Given the description of an element on the screen output the (x, y) to click on. 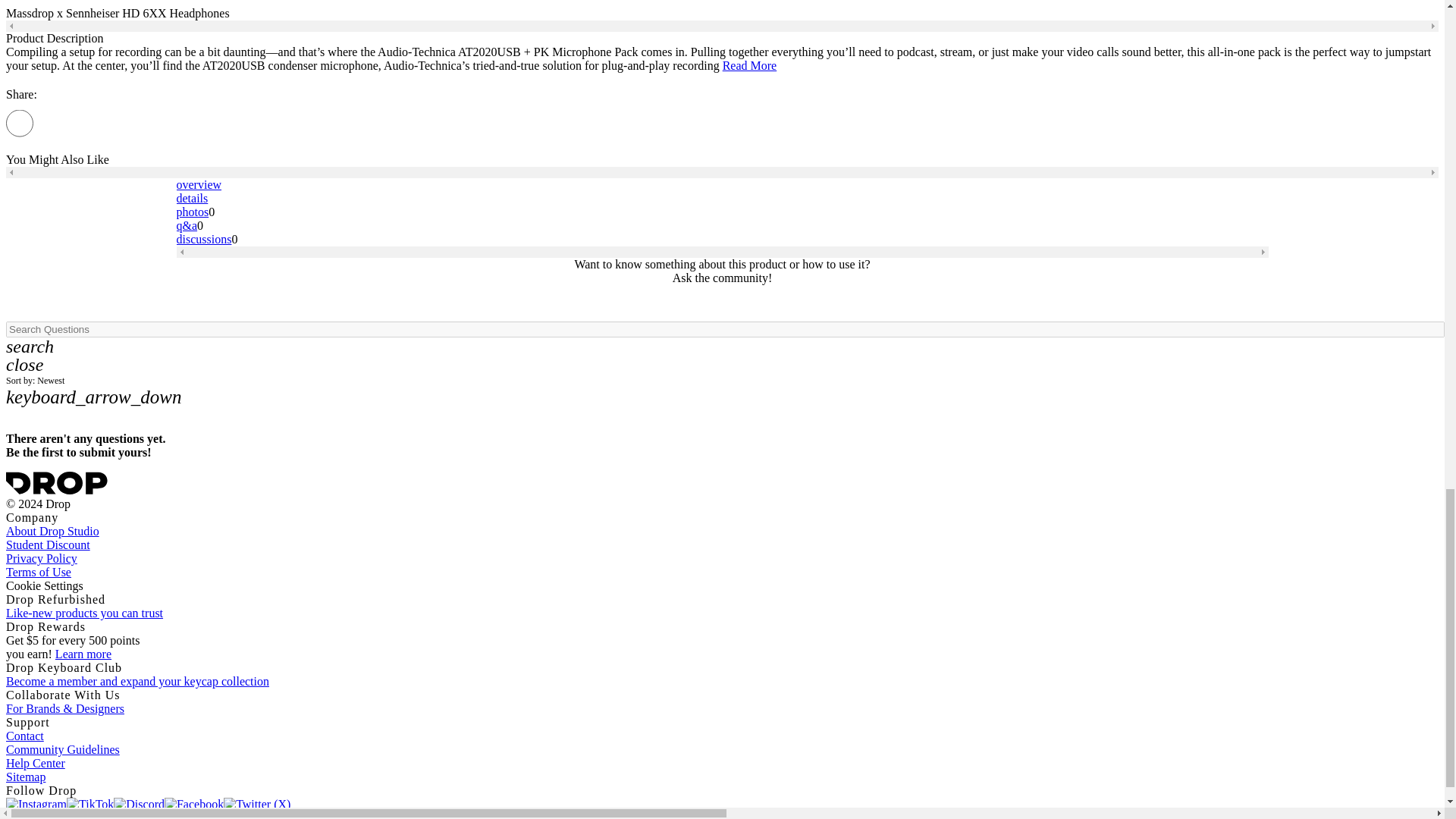
Drop (56, 482)
